Given the description of an element on the screen output the (x, y) to click on. 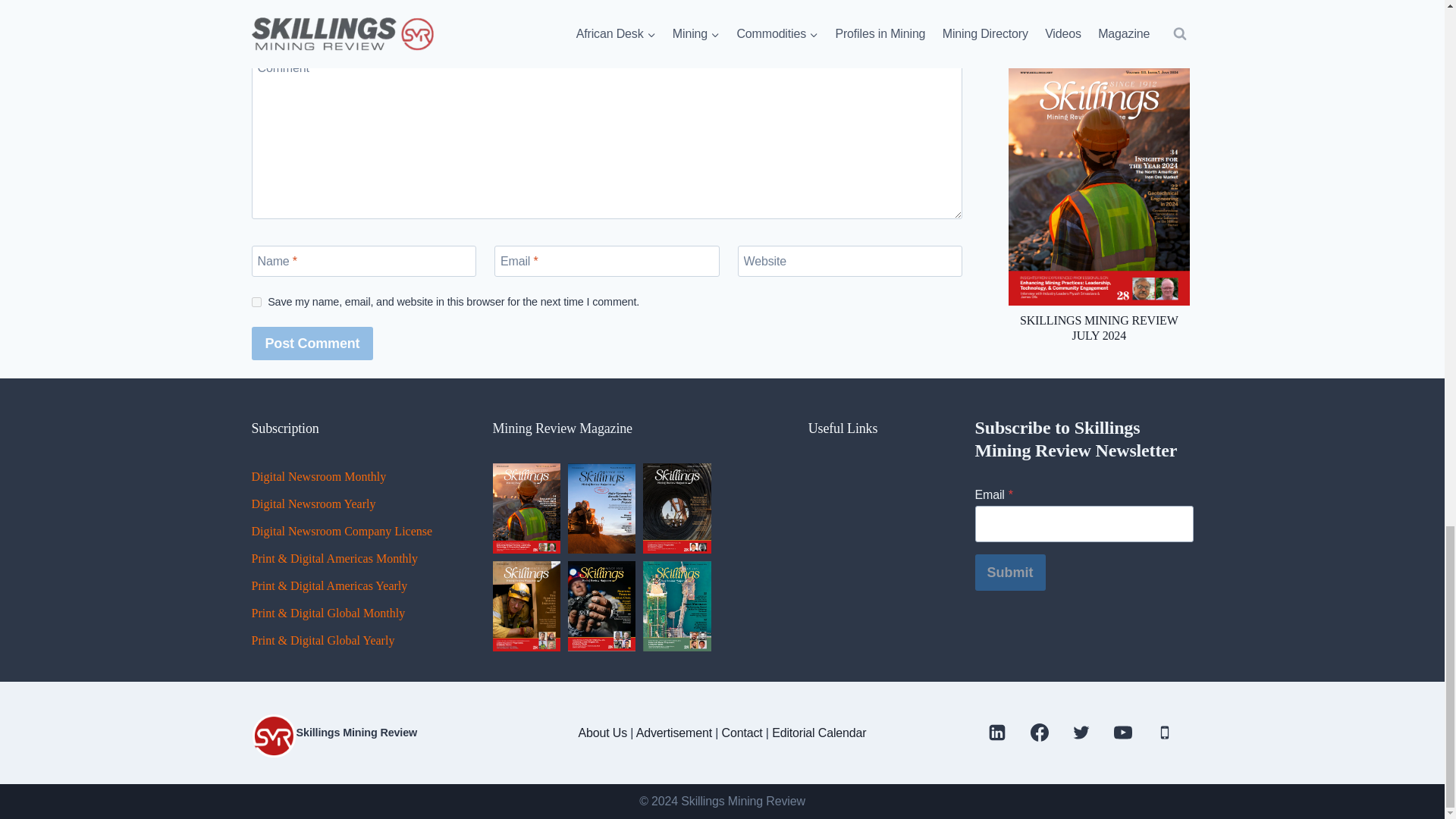
yes (256, 302)
Post Comment (312, 342)
